Given the description of an element on the screen output the (x, y) to click on. 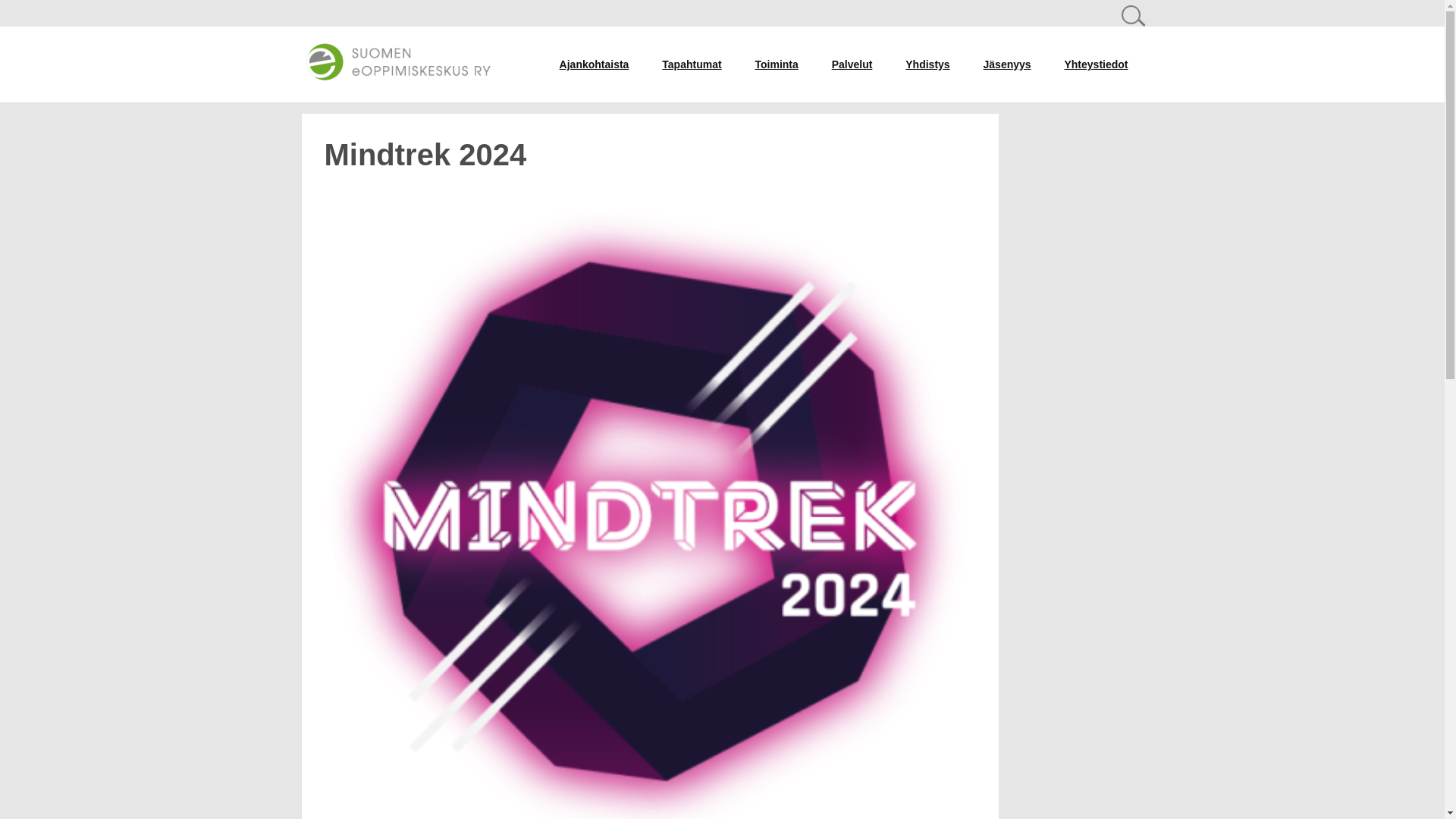
Ajankohtaista (594, 64)
Tapahtumat (691, 64)
